Given the description of an element on the screen output the (x, y) to click on. 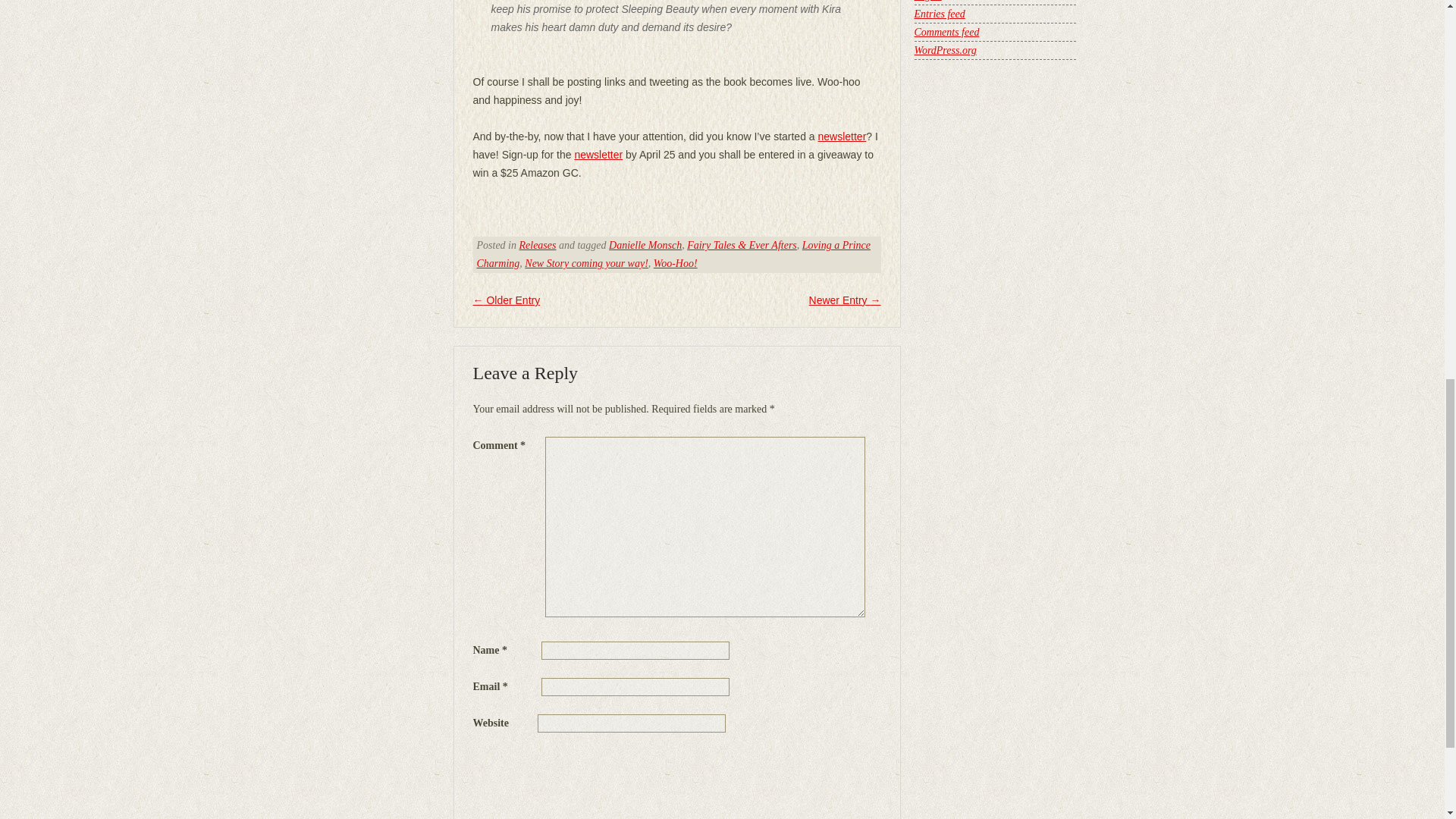
newsletter (841, 136)
newsletter (598, 154)
Loving a Prince Charming (673, 254)
Post Comment (503, 761)
Danielle Monsch (644, 244)
Releases (537, 244)
Log in (928, 0)
New Story coming your way! (585, 263)
Woo-Hoo! (675, 263)
Post Comment (503, 761)
